Given the description of an element on the screen output the (x, y) to click on. 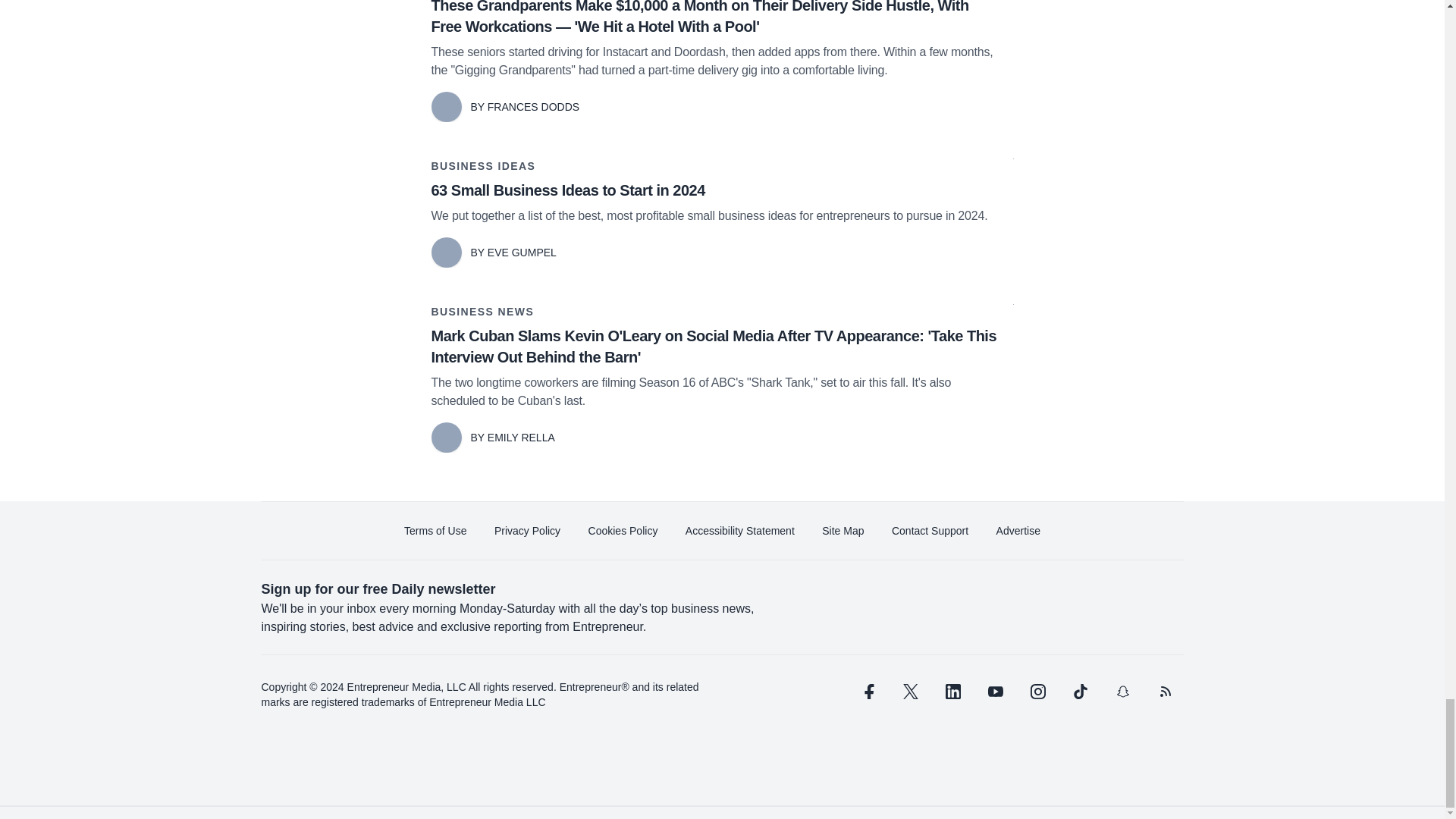
tiktok (1079, 691)
linkedin (952, 691)
instagram (1037, 691)
youtube (994, 691)
twitter (909, 691)
facebook (866, 691)
snapchat (1121, 691)
rss (1164, 691)
